Given the description of an element on the screen output the (x, y) to click on. 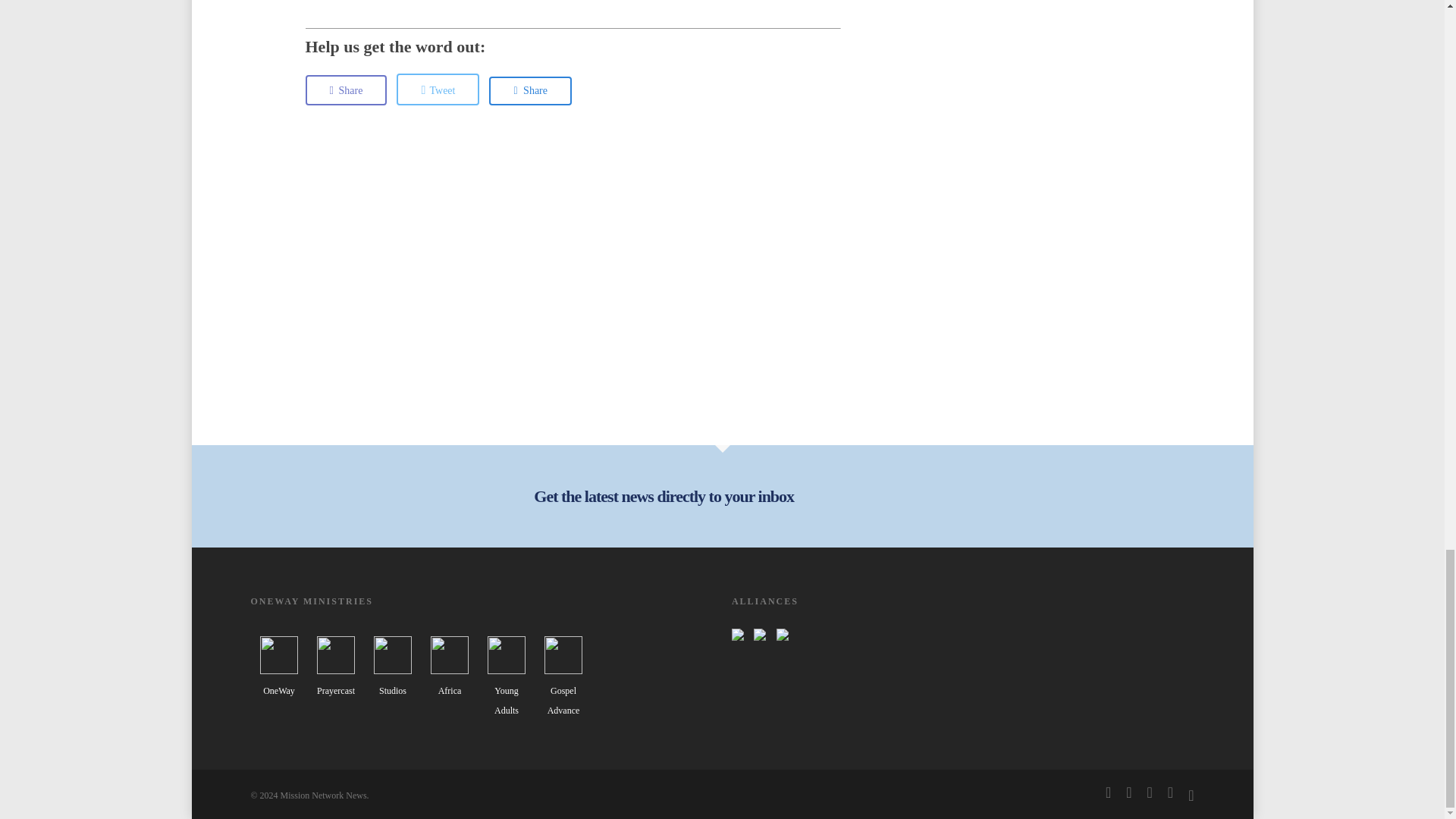
Share this (530, 90)
Share this (345, 90)
Tweet this (437, 89)
